Given the description of an element on the screen output the (x, y) to click on. 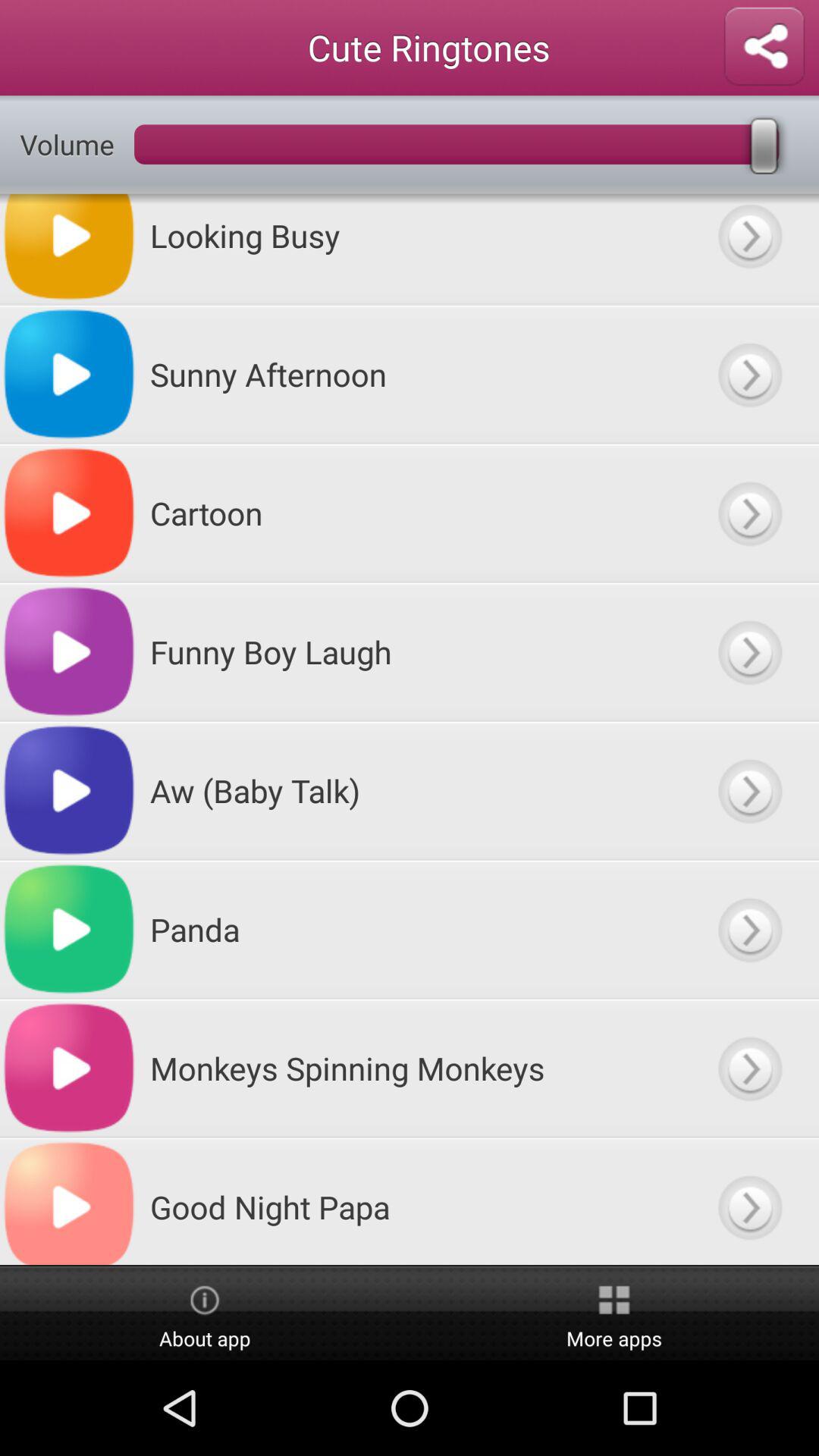
more option (749, 790)
